Given the description of an element on the screen output the (x, y) to click on. 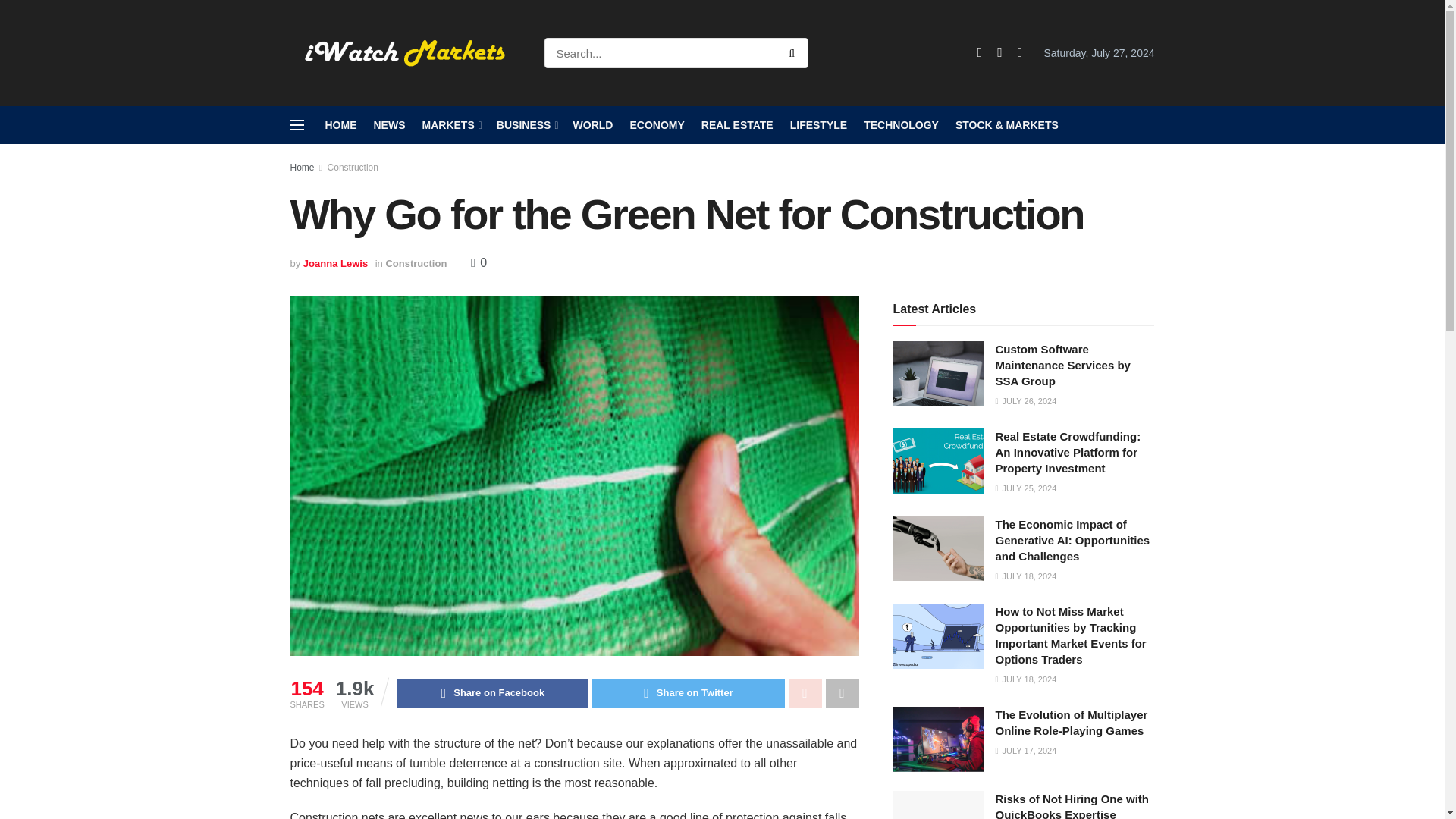
LIFESTYLE (818, 125)
REAL ESTATE (737, 125)
ECONOMY (656, 125)
BUSINESS (526, 125)
WORLD (592, 125)
TECHNOLOGY (901, 125)
MARKETS (450, 125)
